Given the description of an element on the screen output the (x, y) to click on. 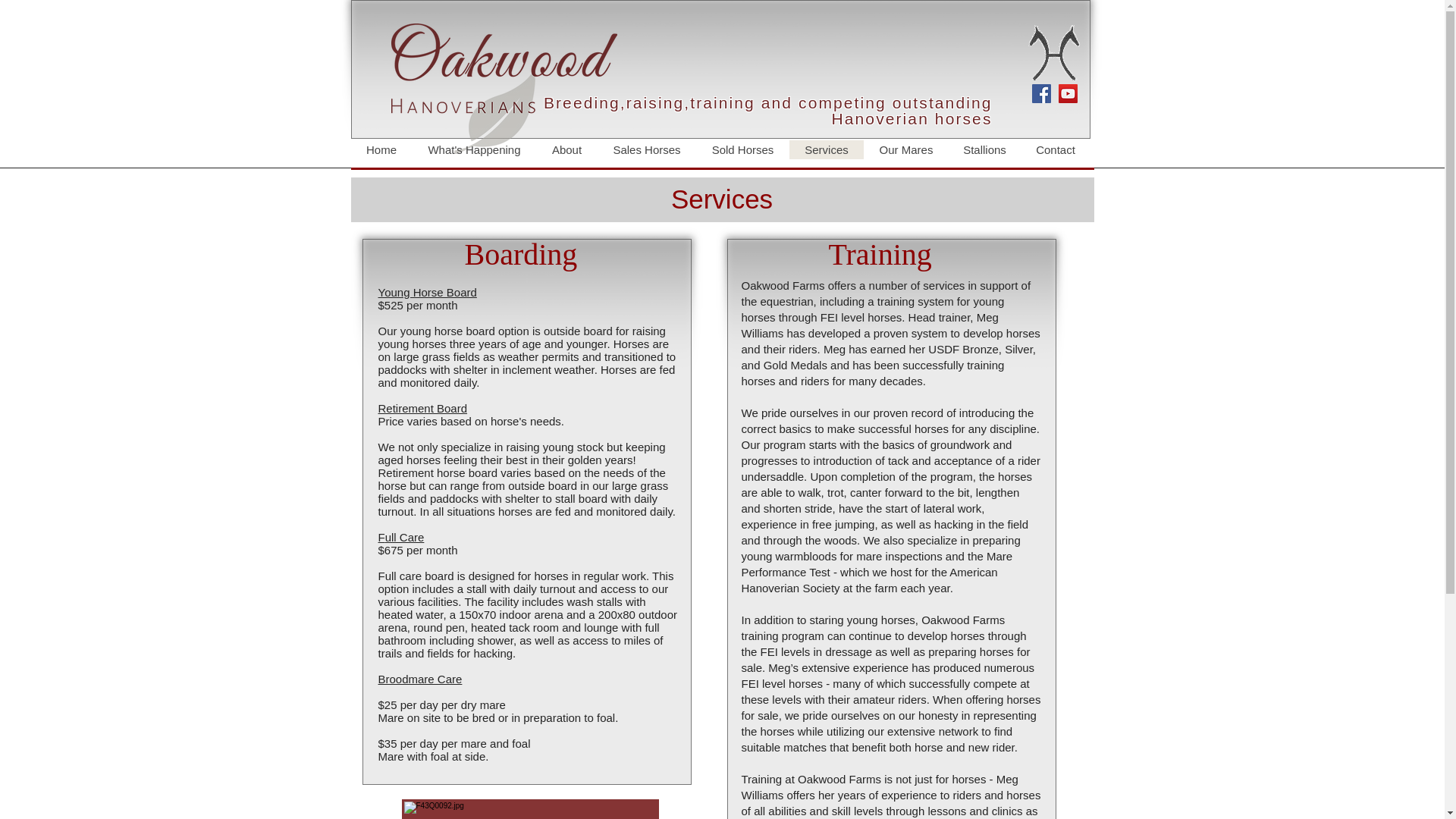
What's Happening (473, 149)
About (565, 149)
Our Mares (905, 149)
Services (826, 149)
Stallions (983, 149)
Sold Horses (742, 149)
Contact (1055, 149)
Home (381, 149)
